Given the description of an element on the screen output the (x, y) to click on. 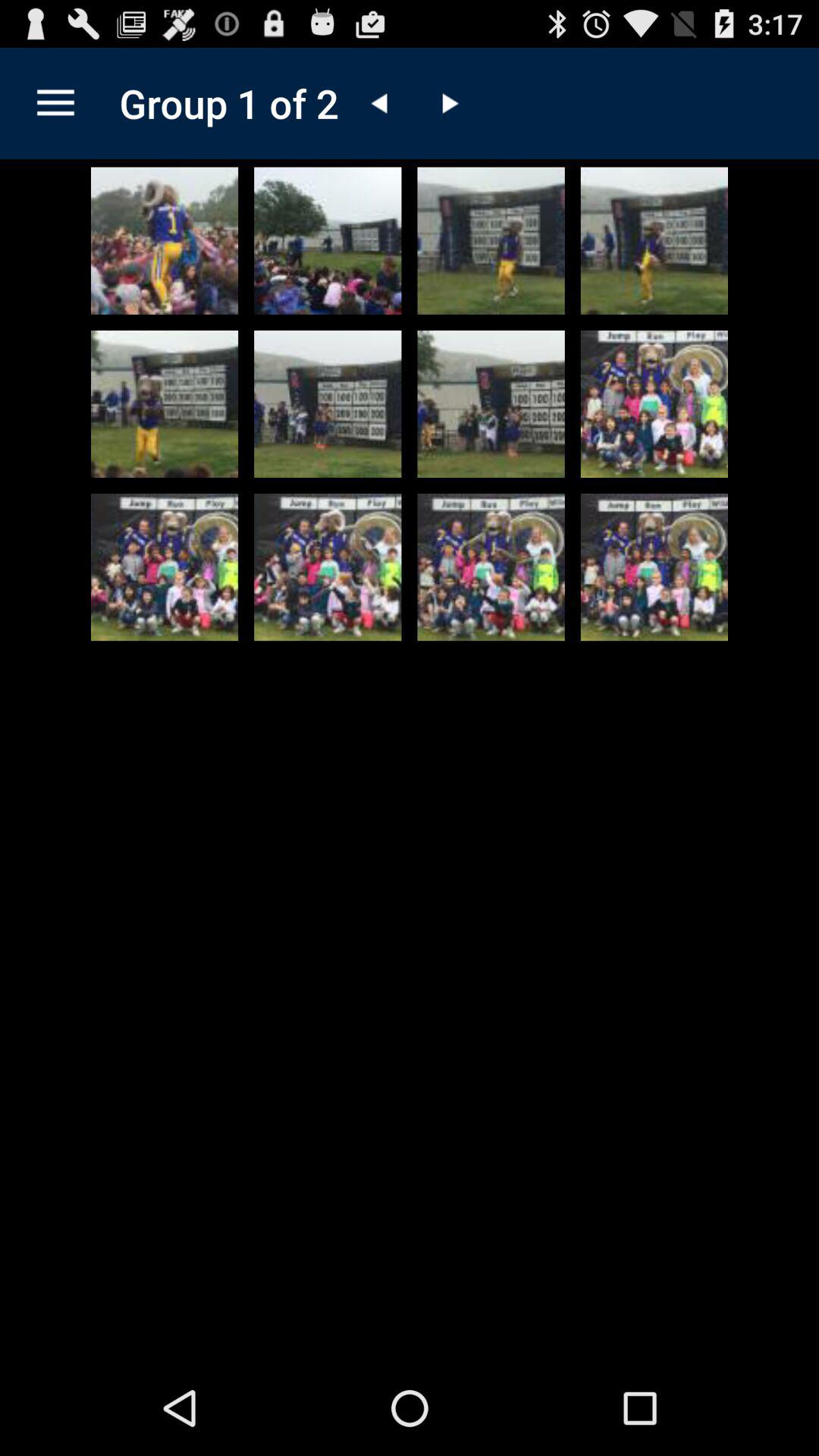
click grid to open settings options (55, 103)
